Given the description of an element on the screen output the (x, y) to click on. 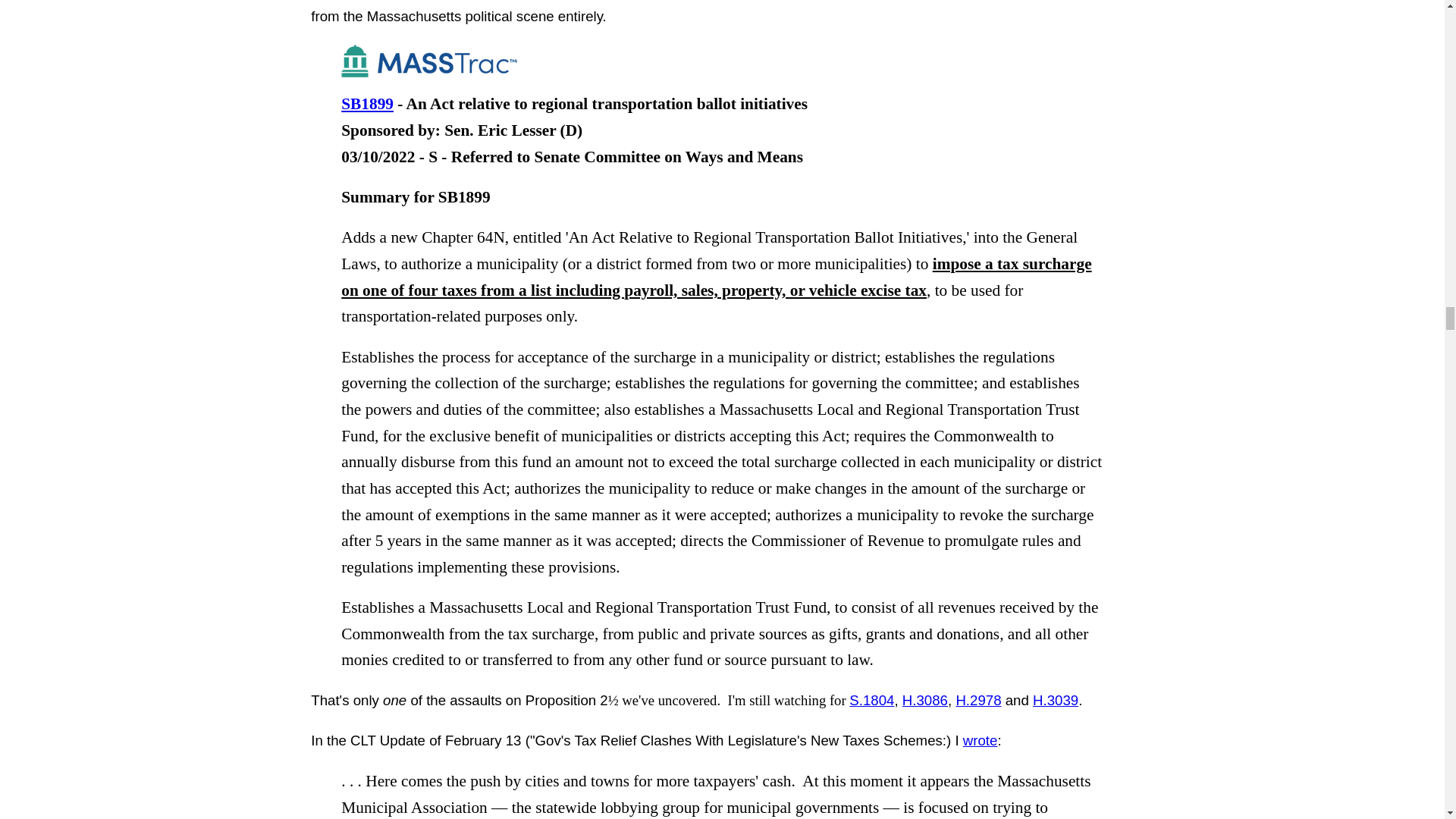
H.2978 (978, 700)
S.1804 (870, 700)
wrote (979, 740)
SB1899 (366, 104)
H.3086 (924, 700)
H.3039 (1055, 700)
